Given the description of an element on the screen output the (x, y) to click on. 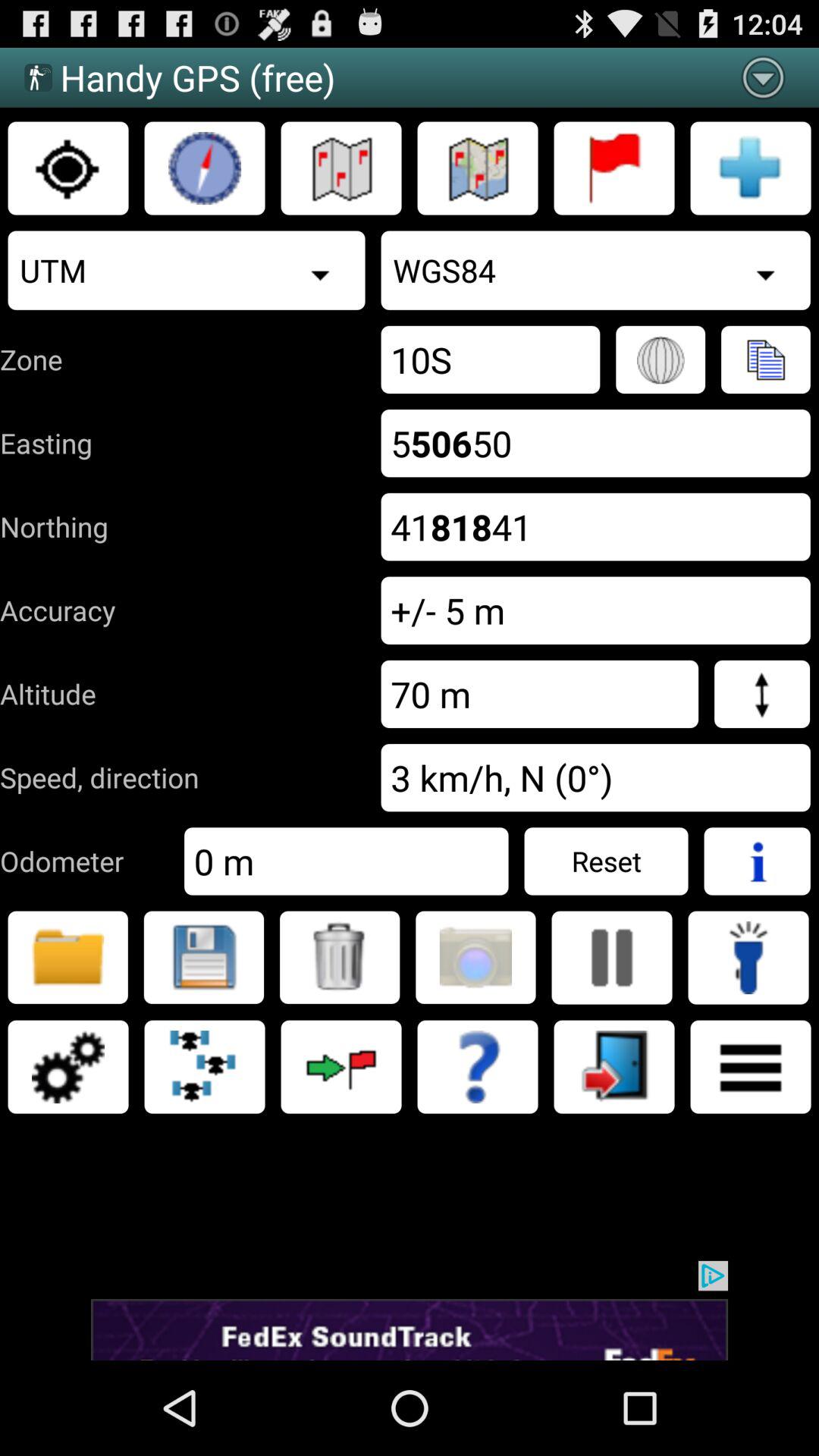
catacutar page (750, 1066)
